Given the description of an element on the screen output the (x, y) to click on. 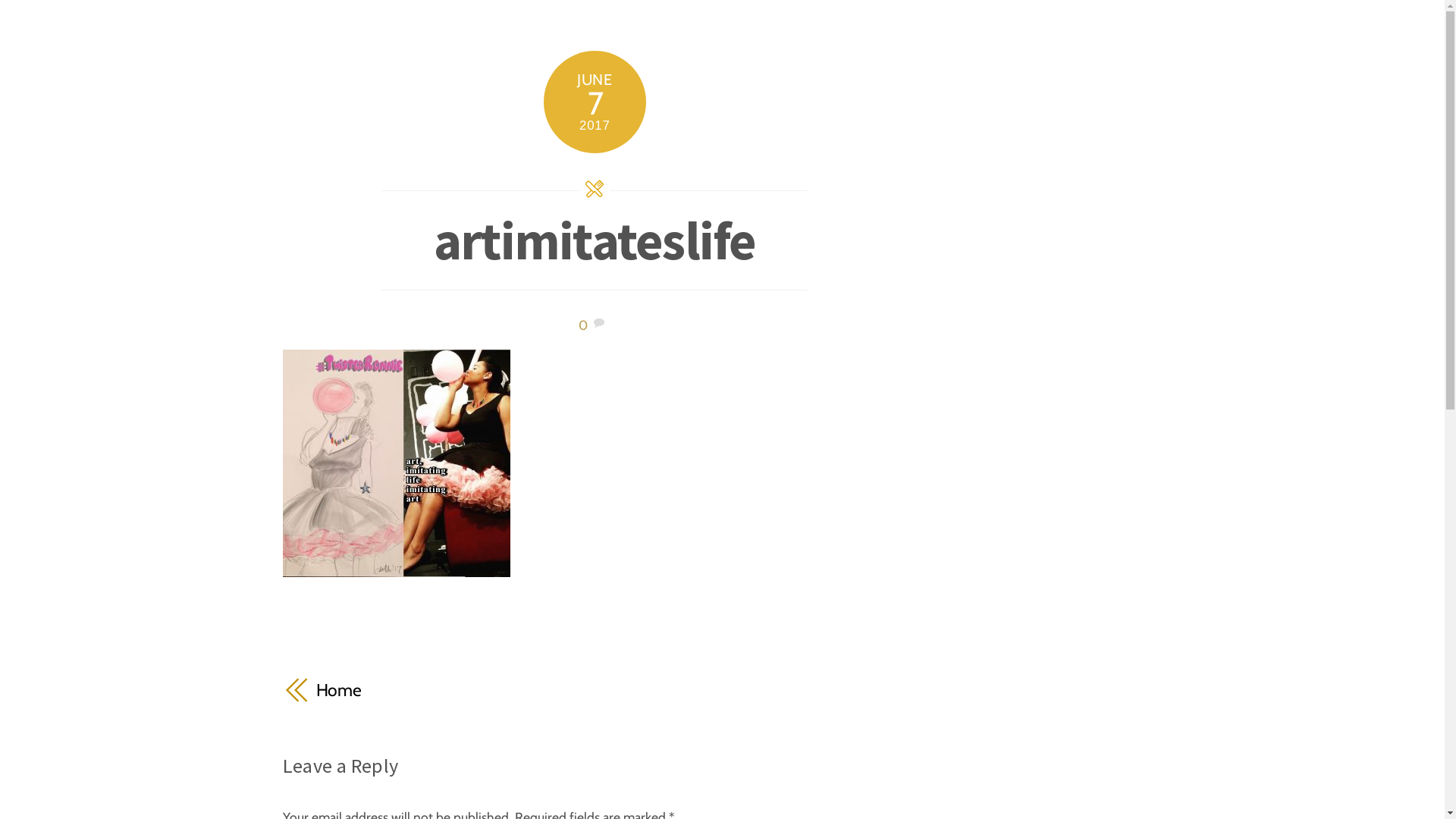
Home Element type: text (445, 689)
artimitateslife Element type: text (594, 240)
0 Element type: text (582, 324)
